Given the description of an element on the screen output the (x, y) to click on. 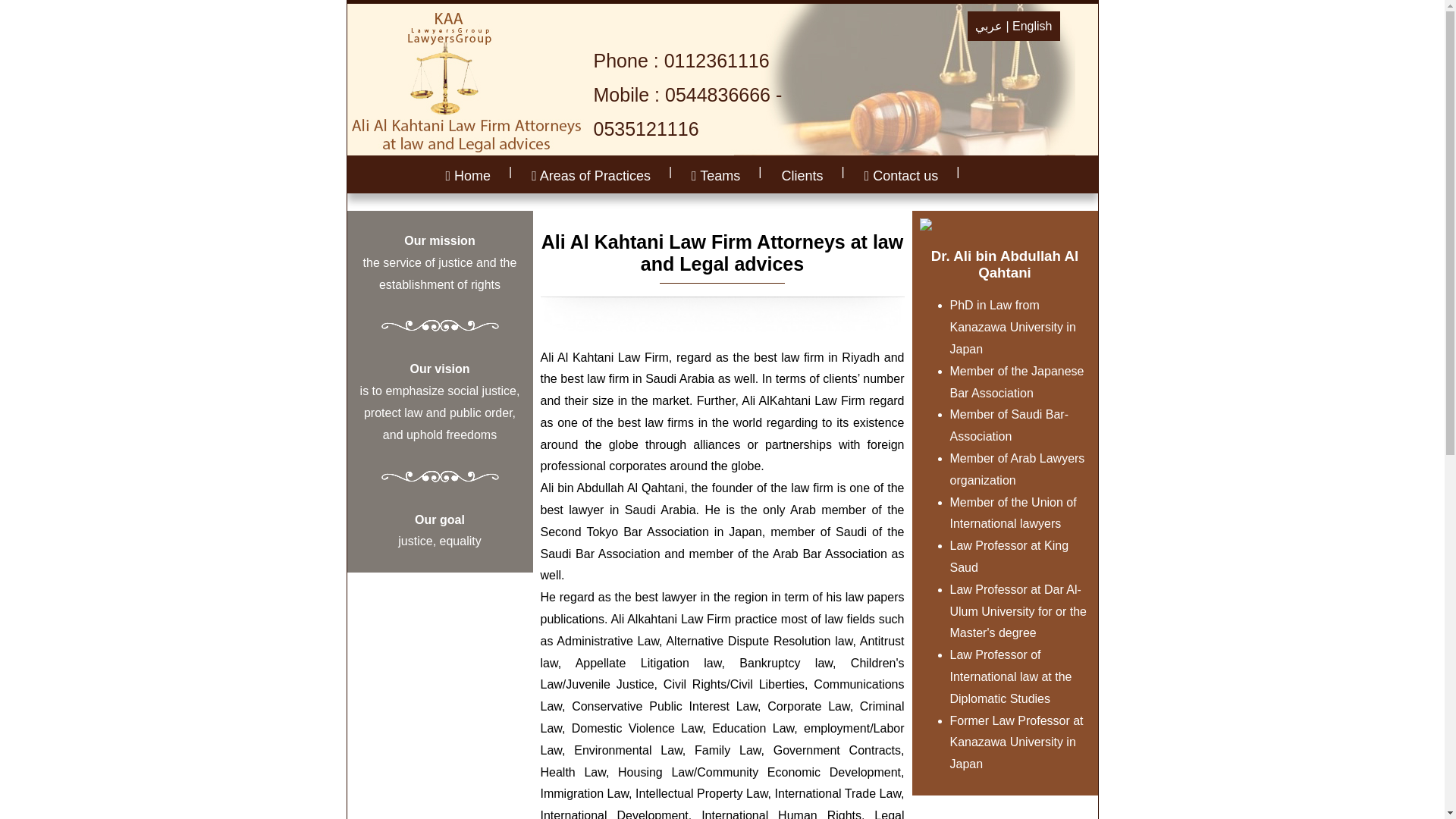
Home (467, 176)
Areas of Practices (591, 176)
Contact us (901, 176)
English (1031, 25)
Clients (802, 176)
Teams (716, 176)
